Given the description of an element on the screen output the (x, y) to click on. 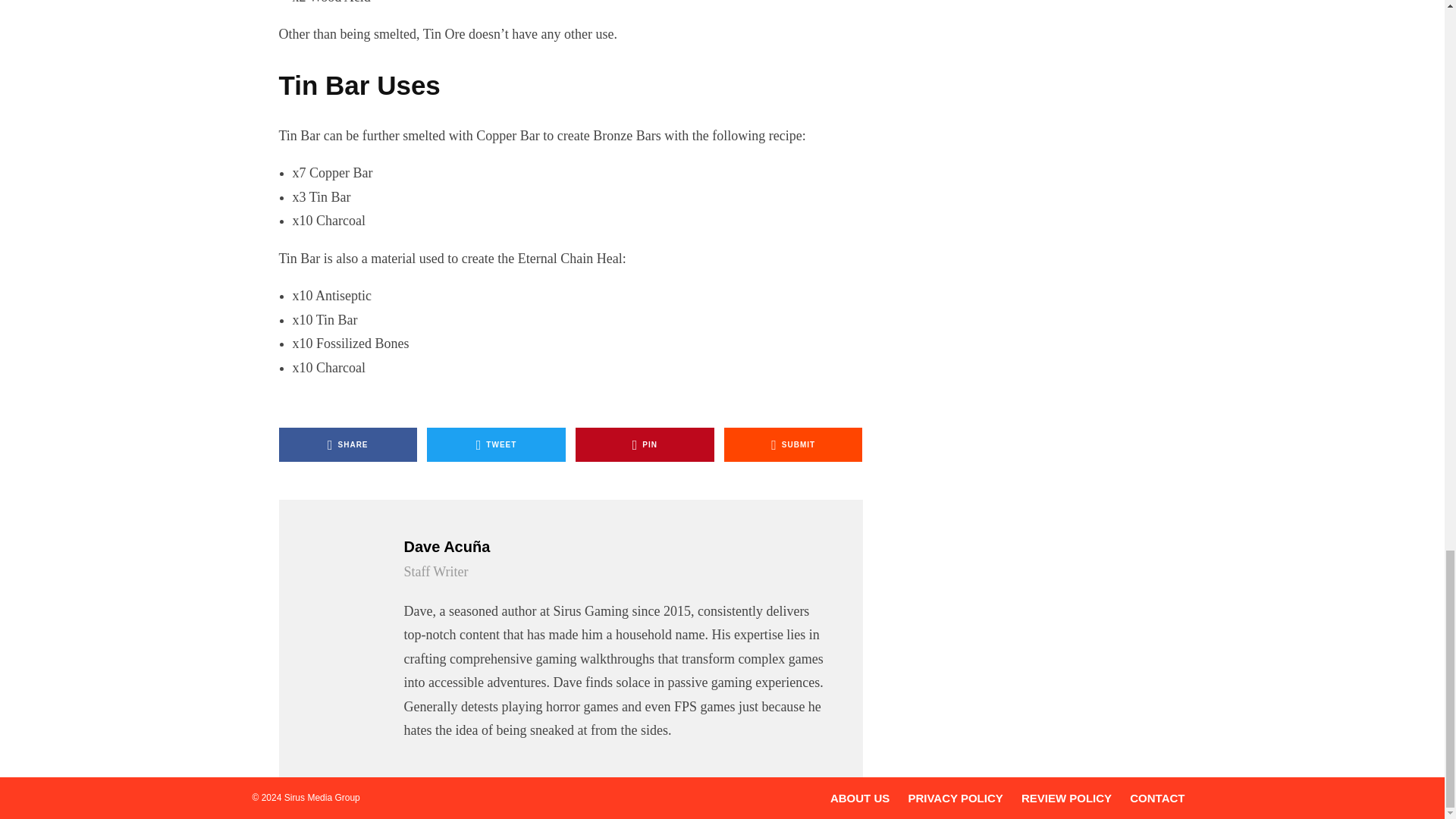
PRIVACY POLICY (955, 798)
SUBMIT (793, 444)
TWEET (496, 444)
CONTACT (1157, 798)
ABOUT US (859, 798)
REVIEW POLICY (1067, 798)
PIN (644, 444)
SHARE (348, 444)
